Given the description of an element on the screen output the (x, y) to click on. 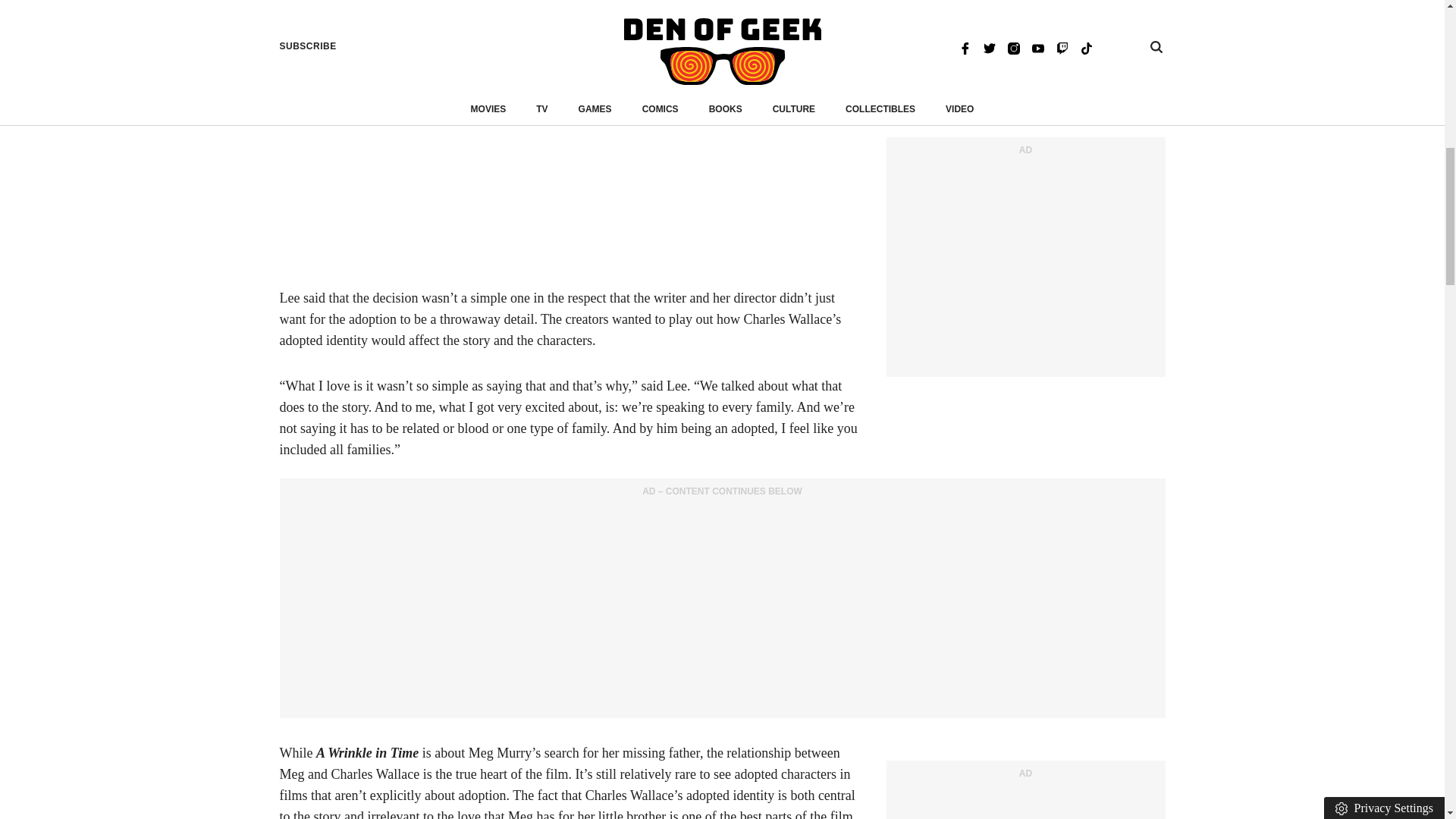
one of the best parts of the film (766, 814)
